Given the description of an element on the screen output the (x, y) to click on. 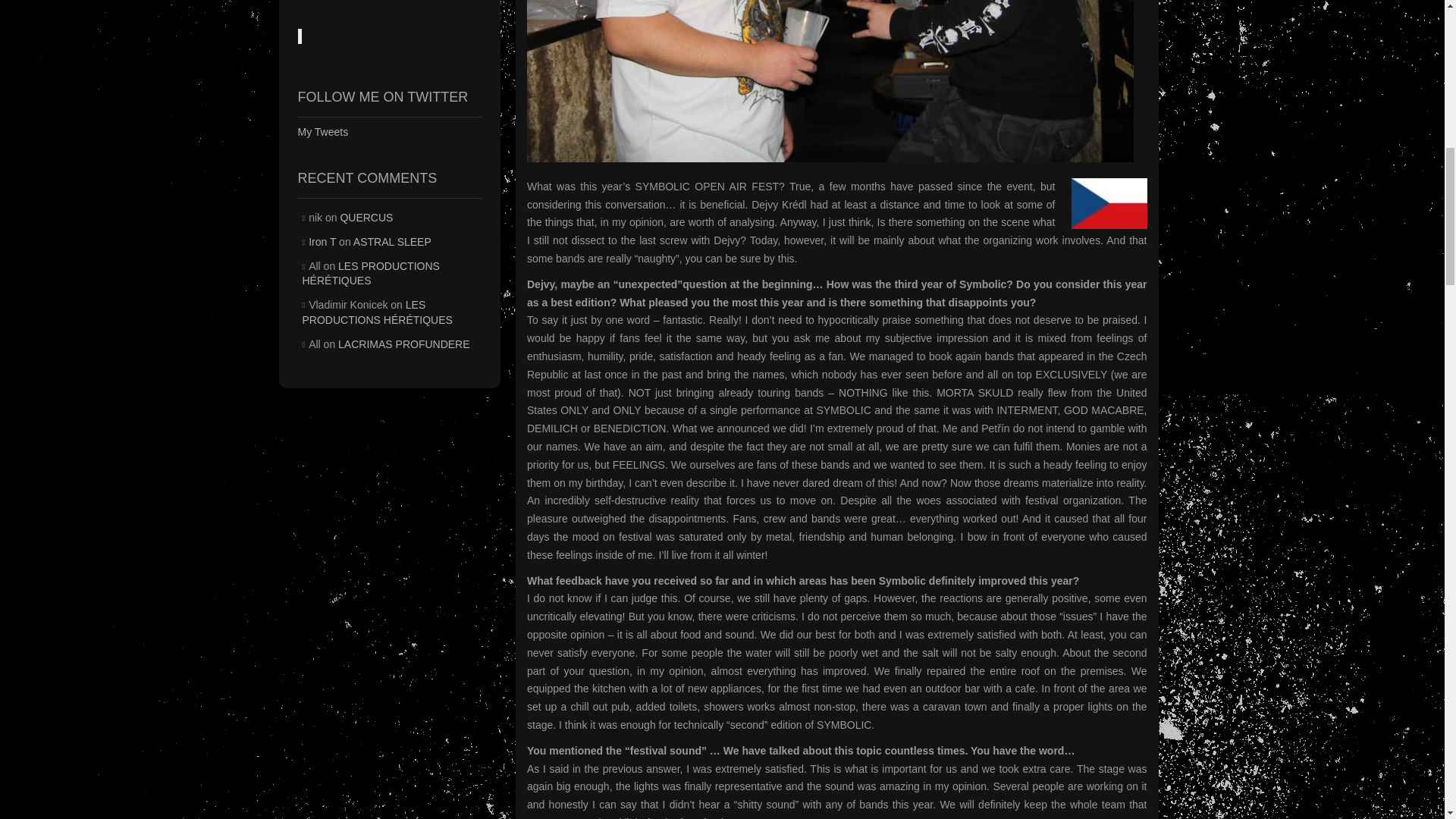
QUERCUS (366, 217)
My Tweets (322, 132)
ASTRAL SLEEP (391, 241)
LACRIMAS PROFUNDERE (402, 344)
Iron T (322, 241)
